Given the description of an element on the screen output the (x, y) to click on. 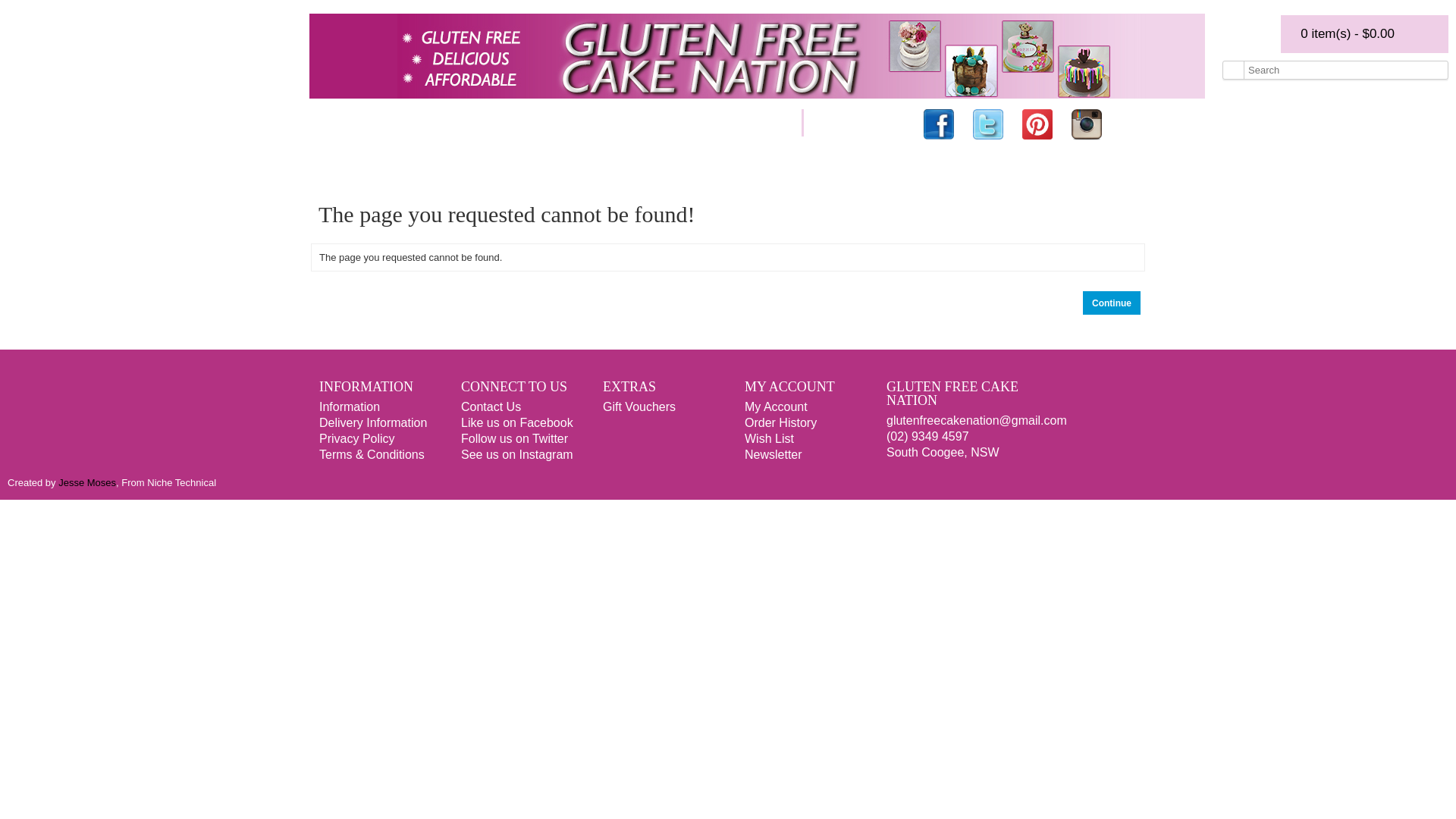
Wish List Element type: text (768, 438)
Order History Element type: text (780, 422)
glutenfreecakenation@gmail.com Element type: text (976, 420)
Contact Us Element type: text (752, 122)
Gluten Free Cake Nation Element type: hover (756, 55)
See us on Instagram Element type: text (517, 454)
Photo Gallery Element type: text (650, 122)
Gift Vouchers Element type: text (638, 406)
Cake Flavours Element type: text (318, 122)
Home Element type: text (230, 122)
Contact Us Element type: text (490, 406)
Information Element type: text (544, 122)
Like us on Facebook Element type: text (517, 422)
Newsletter Element type: text (773, 454)
0 item(s) - $0.00 Element type: text (1364, 33)
Cake Selection Element type: text (435, 122)
Jesse Moses Element type: text (87, 482)
Follow us on Twitter Element type: text (514, 438)
Delivery Information Element type: text (372, 422)
Information Element type: text (349, 406)
My Account Element type: text (775, 406)
Terms & Conditions Element type: text (371, 454)
Privacy Policy Element type: text (357, 438)
Continue Element type: text (1111, 302)
Login/Logout Element type: text (856, 122)
